Given the description of an element on the screen output the (x, y) to click on. 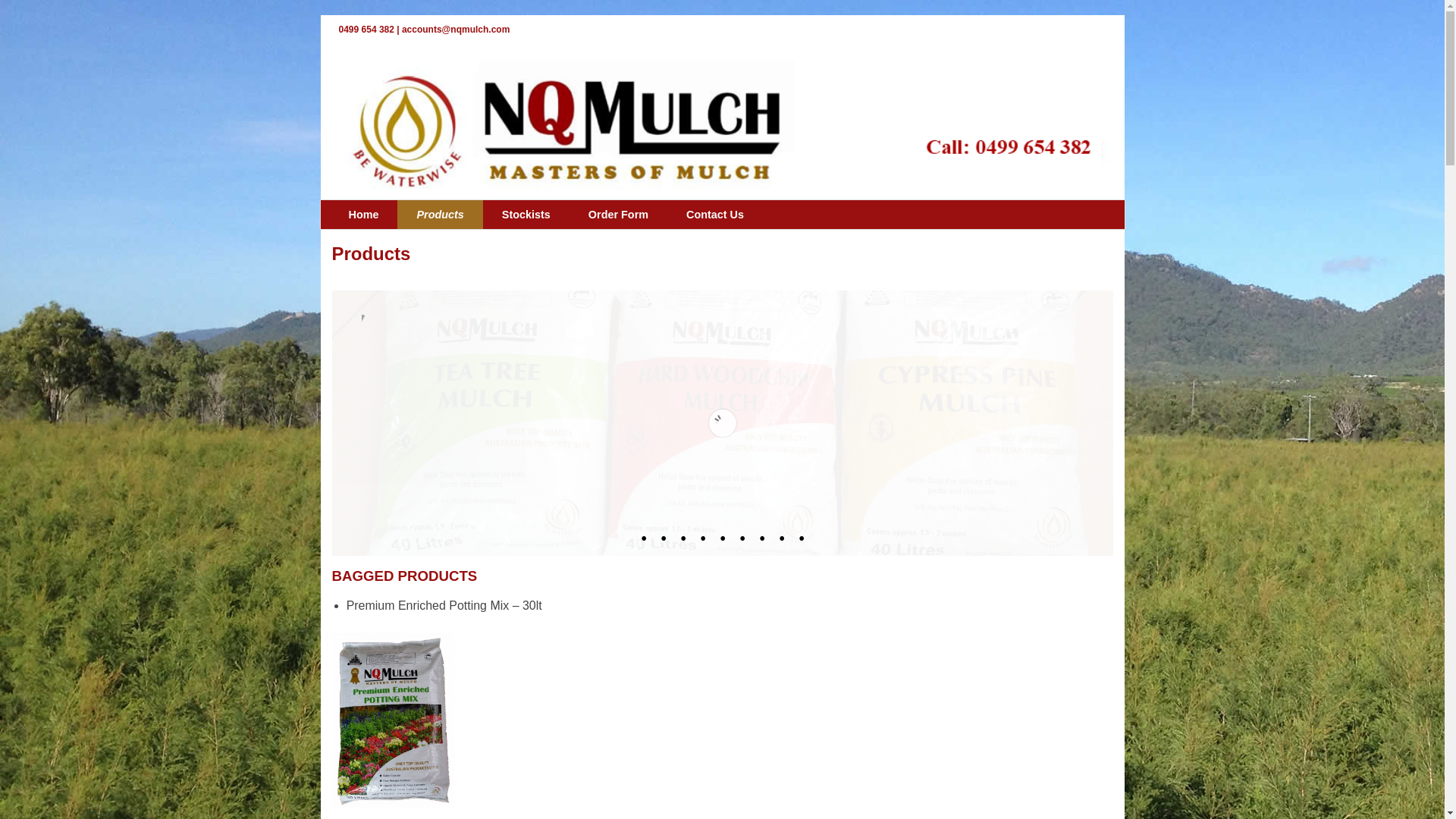
Stockists Element type: text (526, 214)
Skip to secondary content Element type: text (372, 204)
Home Element type: text (363, 214)
Skip to primary content Element type: text (366, 204)
accounts@nqmulch.com Element type: text (455, 29)
Order Form Element type: text (618, 214)
Contact Us Element type: text (714, 214)
0499 654 382 Element type: text (365, 29)
Products Element type: text (439, 214)
